Given the description of an element on the screen output the (x, y) to click on. 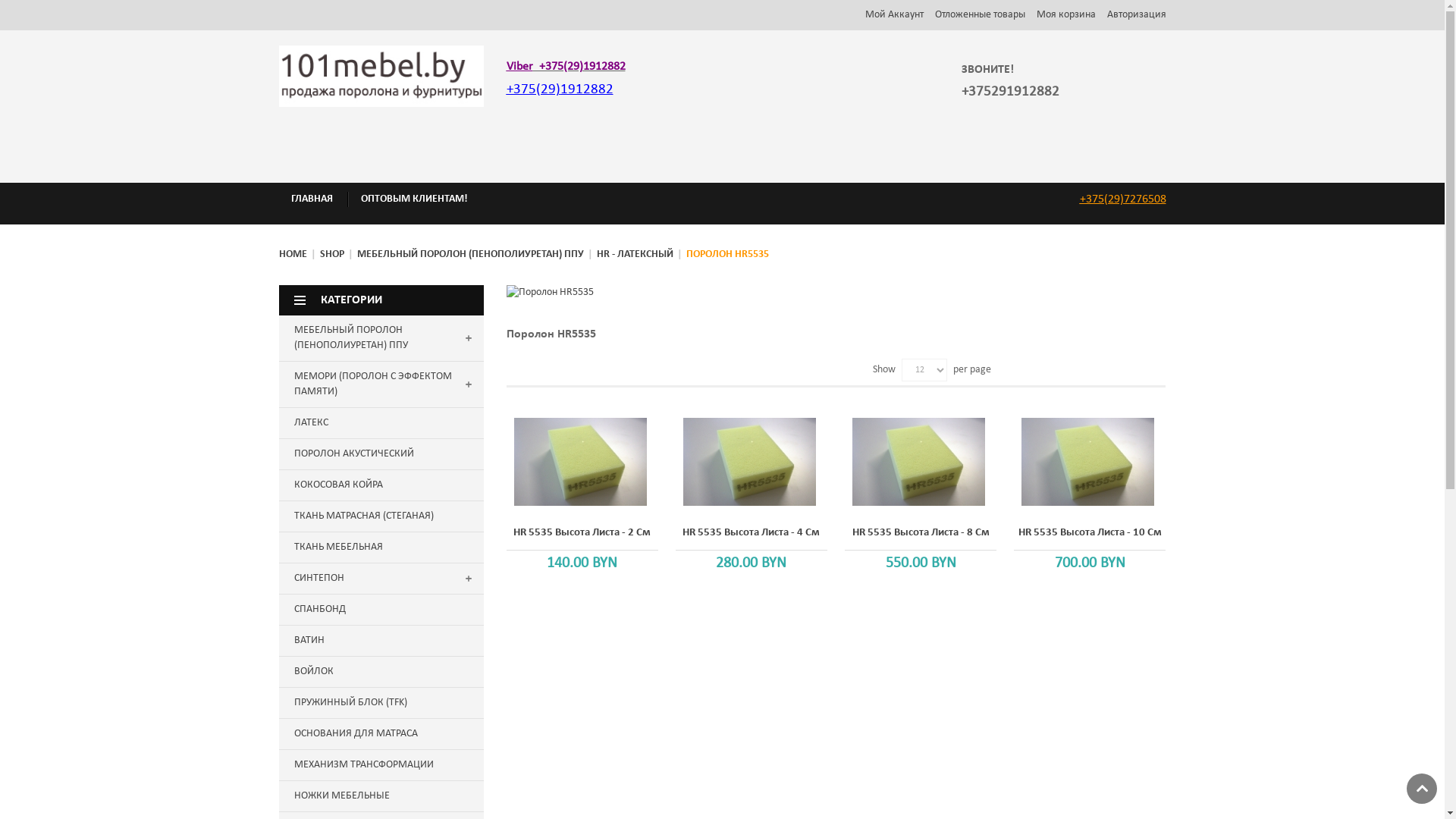
Goto Top Element type: hover (1421, 788)
HOME Element type: text (293, 254)
+375(29) Element type: text (533, 89)
+375(29)7 Element type: text (1104, 199)
SHOP Element type: text (332, 254)
Viber Element type: text (519, 66)
